Given the description of an element on the screen output the (x, y) to click on. 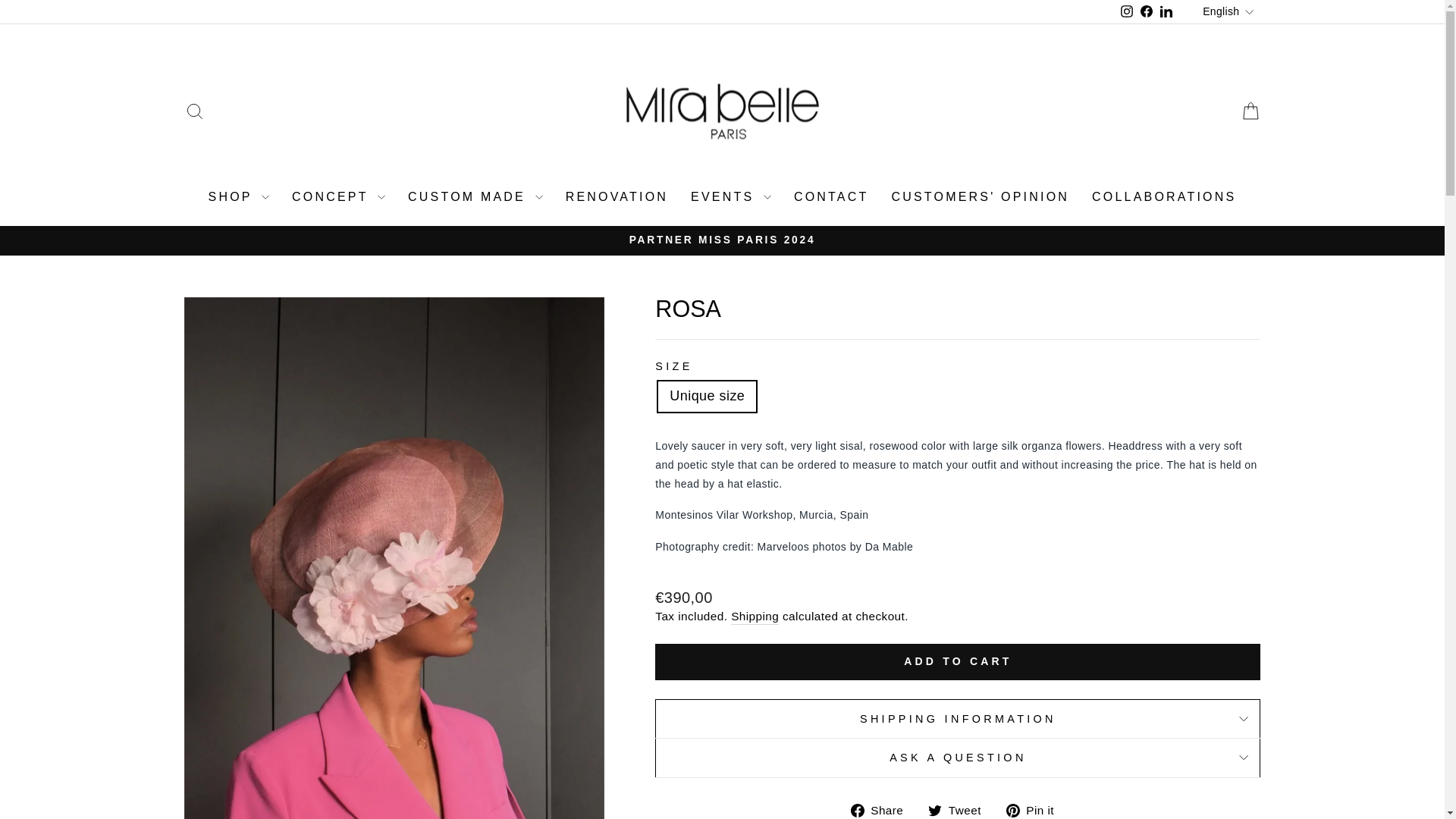
Pin on Pinterest (1035, 809)
Tweet on Twitter (960, 809)
twitter (935, 810)
Share on Facebook (882, 809)
ICON-SEARCH (194, 111)
instagram (1126, 10)
